Given the description of an element on the screen output the (x, y) to click on. 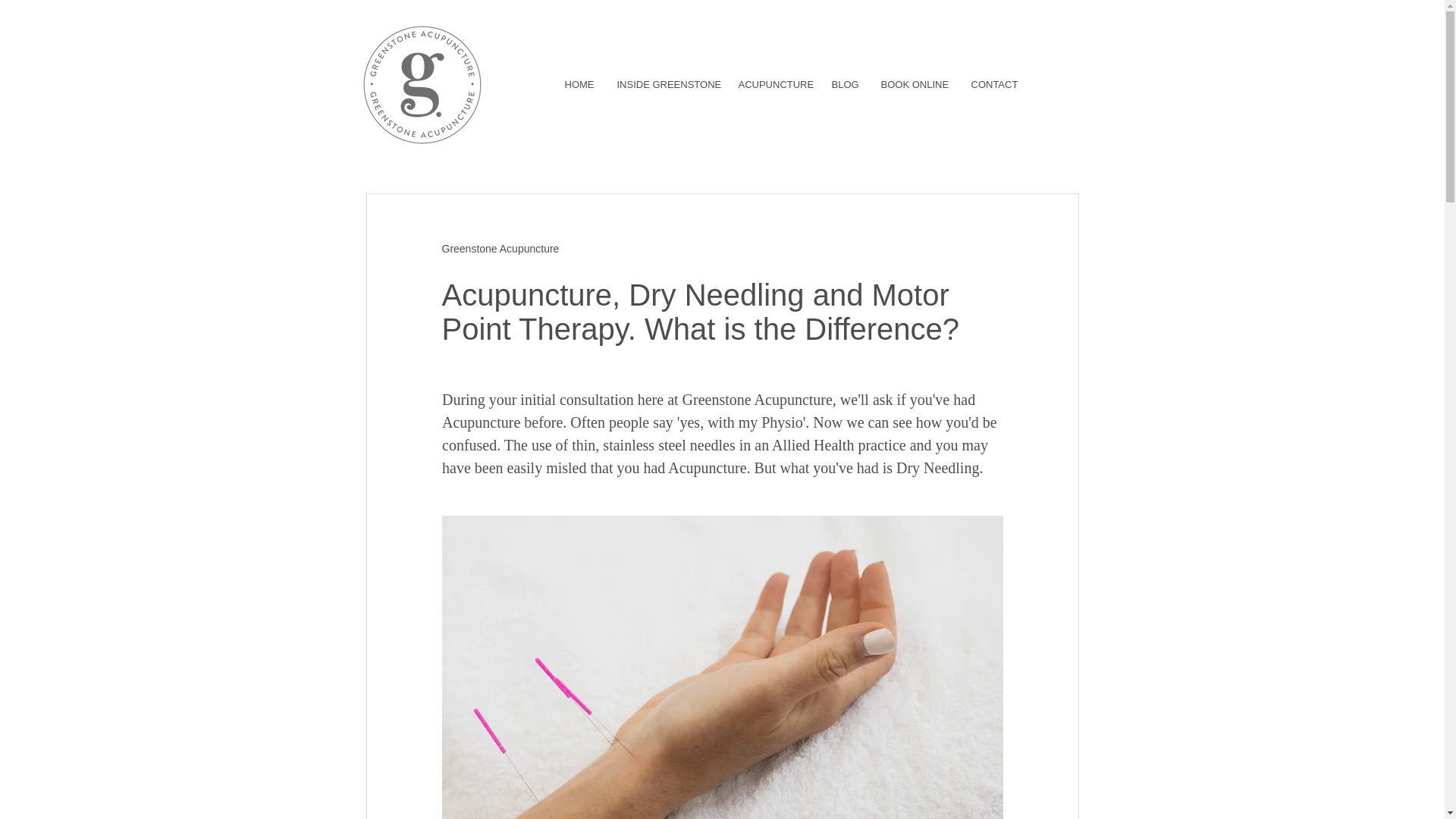
HOME (578, 85)
CONTACT (993, 85)
BOOK ONLINE (914, 85)
ACUPUNCTURE (772, 85)
BLOG (845, 85)
INSIDE GREENSTONE (665, 85)
Greenstone Acupuncture (500, 248)
